Given the description of an element on the screen output the (x, y) to click on. 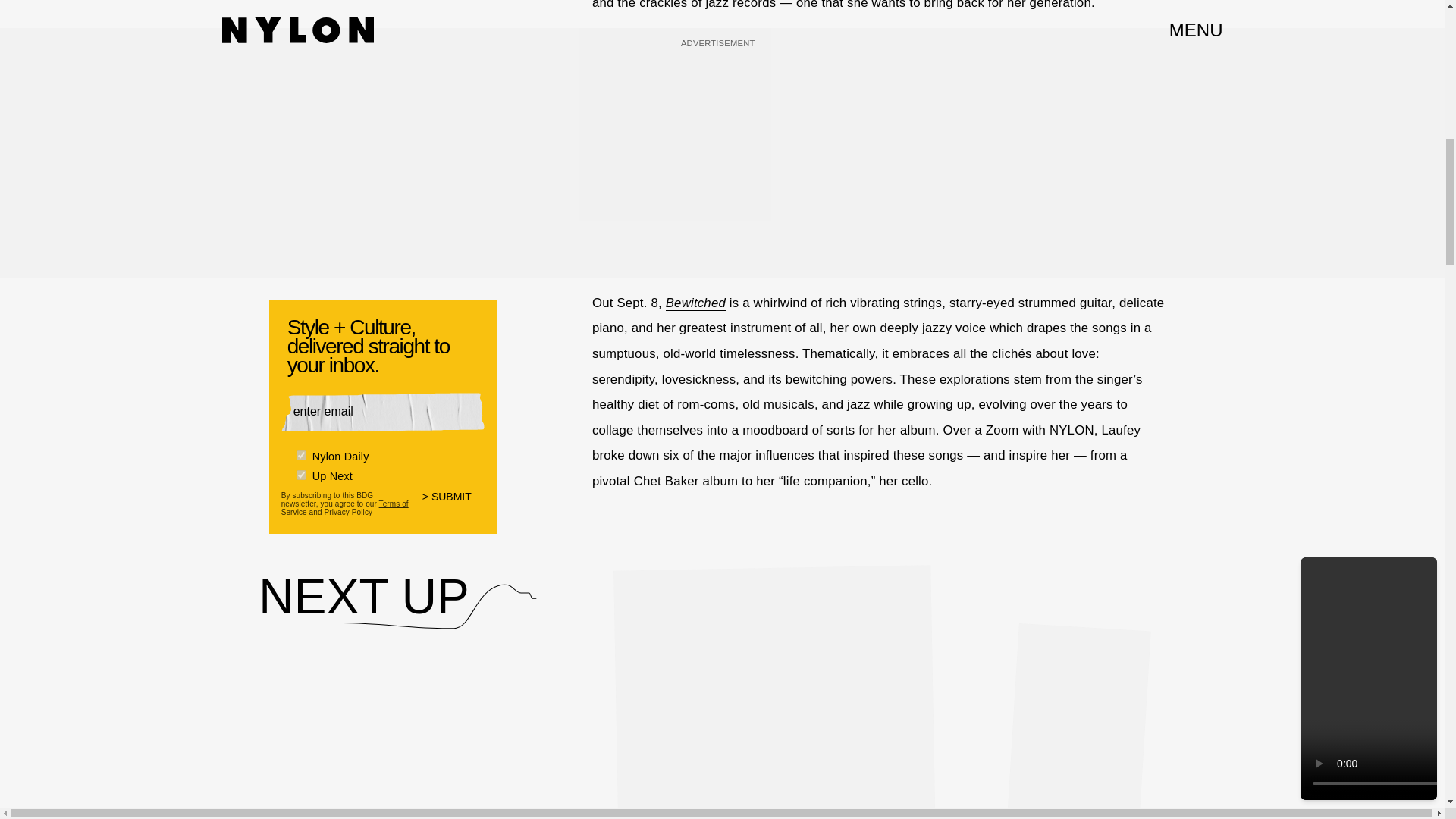
Terms of Service (345, 507)
Bewitched (695, 303)
SUBMIT (453, 506)
Privacy Policy (347, 511)
